Given the description of an element on the screen output the (x, y) to click on. 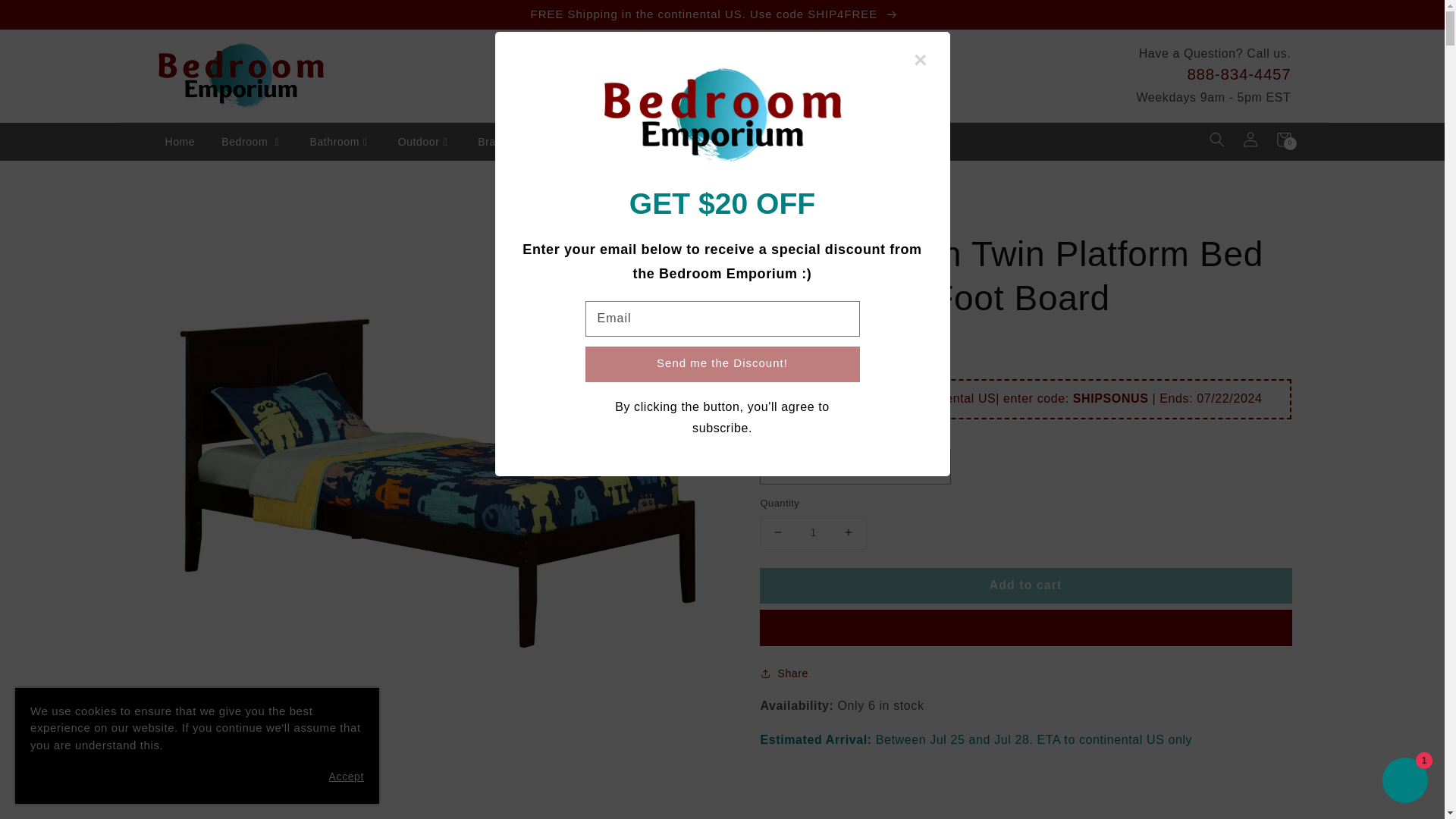
Skip to content (45, 16)
1 (812, 532)
FREE Shipping in the continental US. Use code SHIP4FREE (721, 14)
Shopify online store chat (1404, 781)
